Given the description of an element on the screen output the (x, y) to click on. 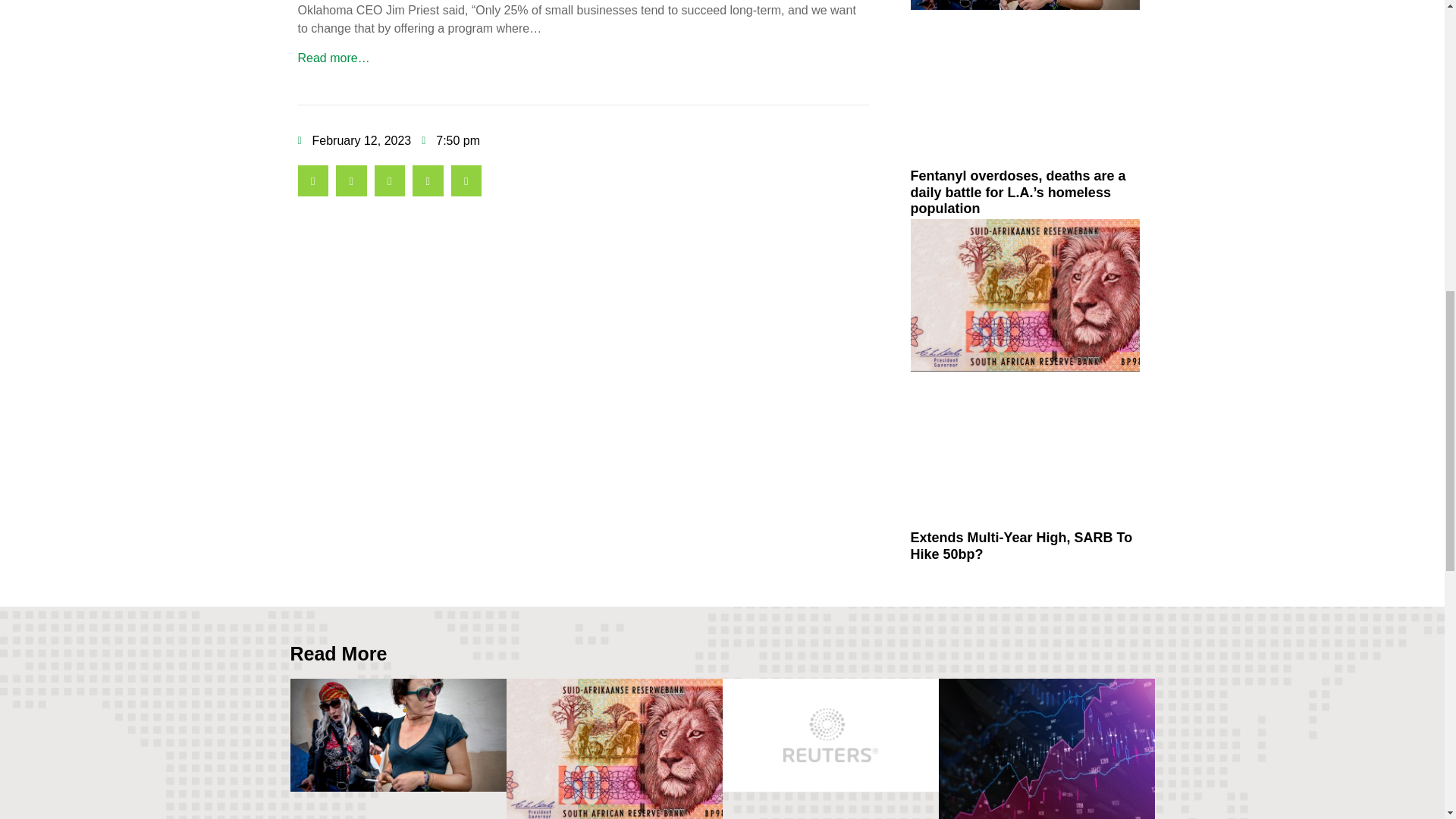
February 12, 2023 (353, 140)
